Given the description of an element on the screen output the (x, y) to click on. 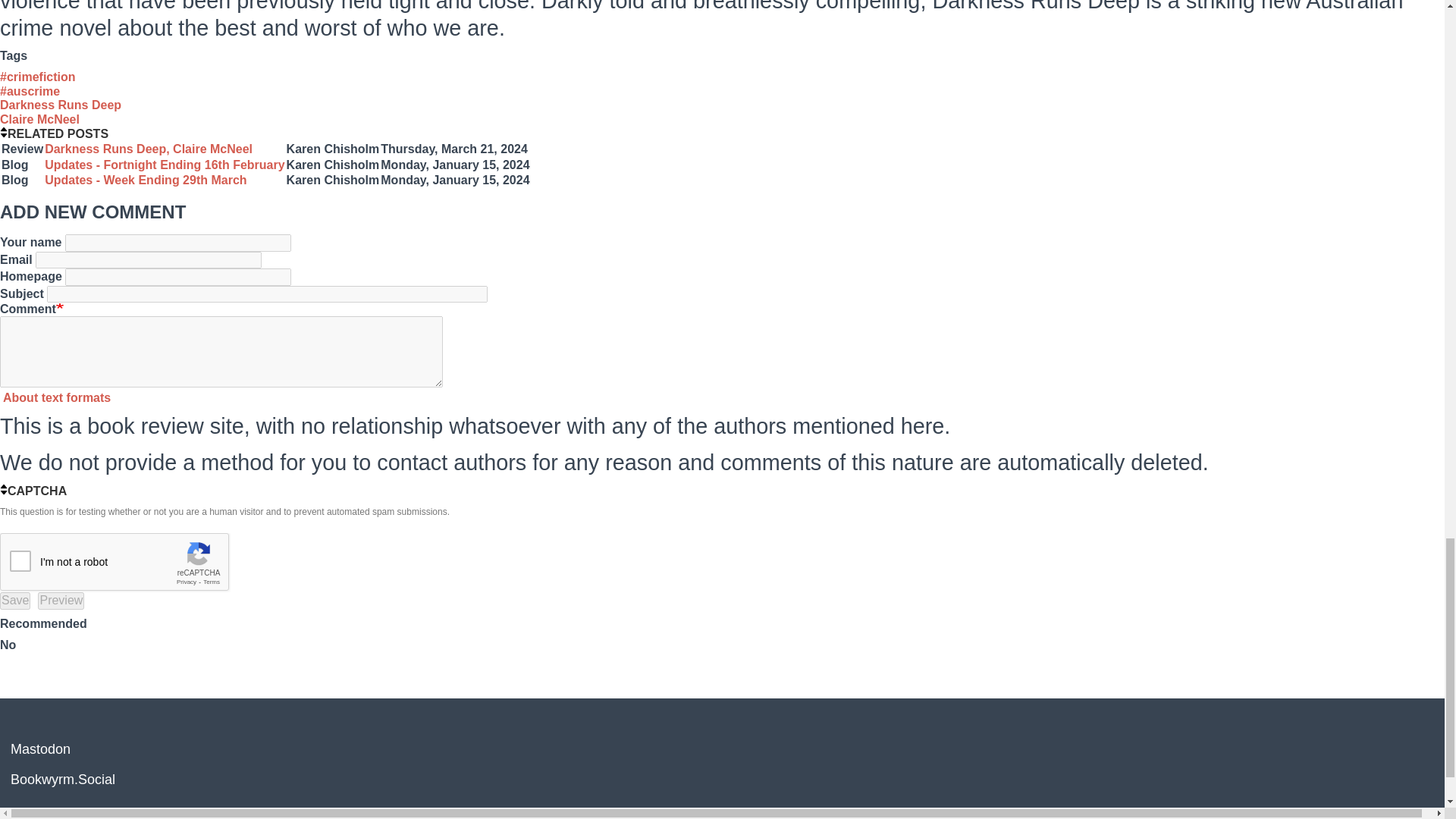
Darkness Runs Deep (60, 104)
Claire McNeel (40, 119)
Preview (60, 600)
Mastodon (40, 749)
reCAPTCHA (115, 562)
Save (15, 600)
Opens in new window (55, 397)
Updates - Week Ending 29th March (145, 179)
Darkness Runs Deep, Claire McNeel (148, 148)
About text formats (55, 397)
Updates - Fortnight Ending 16th February (164, 164)
Bookwyrm.Social (62, 779)
